Given the description of an element on the screen output the (x, y) to click on. 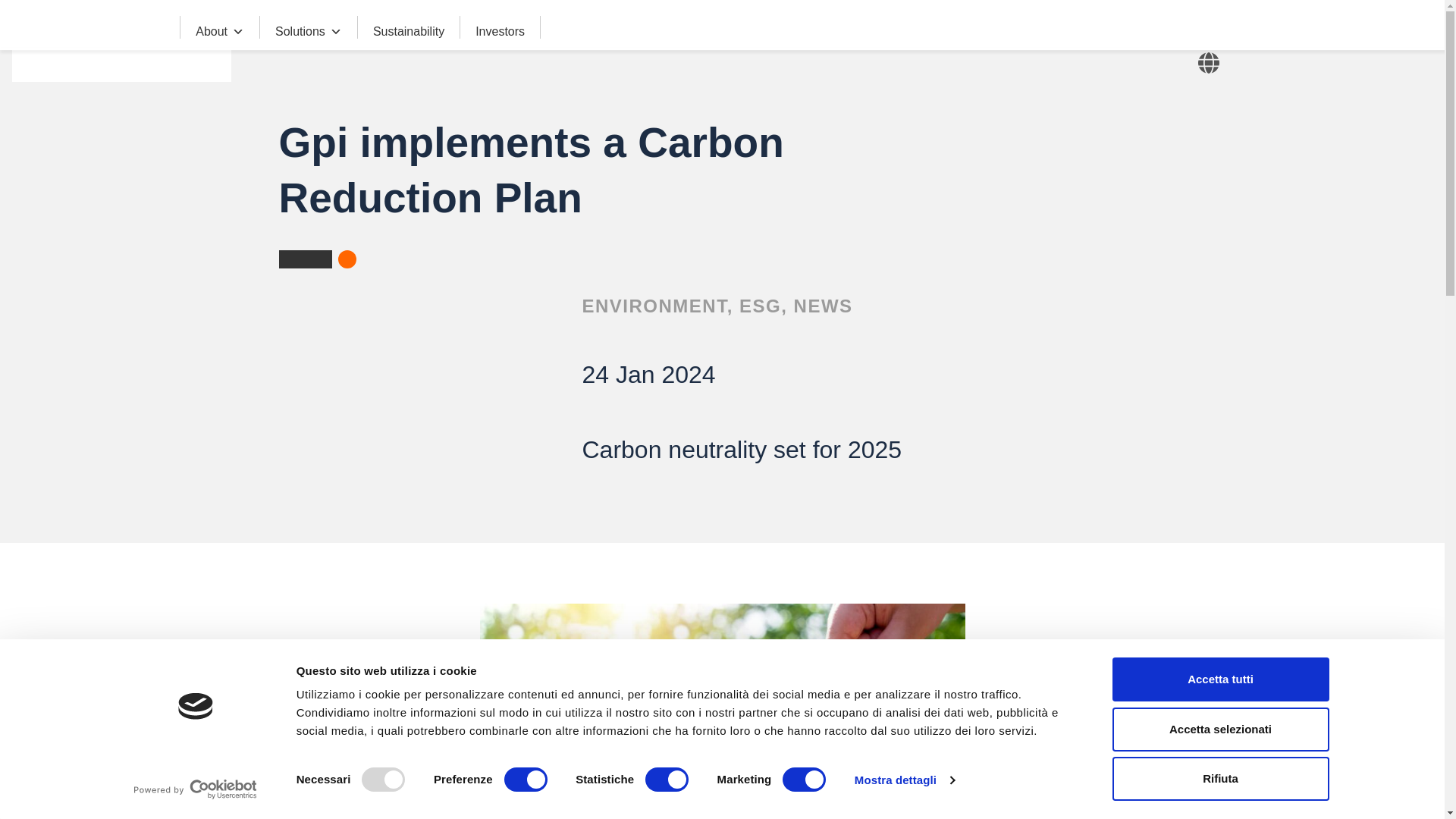
Mostra dettagli (904, 780)
Accetta selezionati (1219, 728)
Rifiuta (1219, 778)
Accetta tutti (1219, 679)
